Given the description of an element on the screen output the (x, y) to click on. 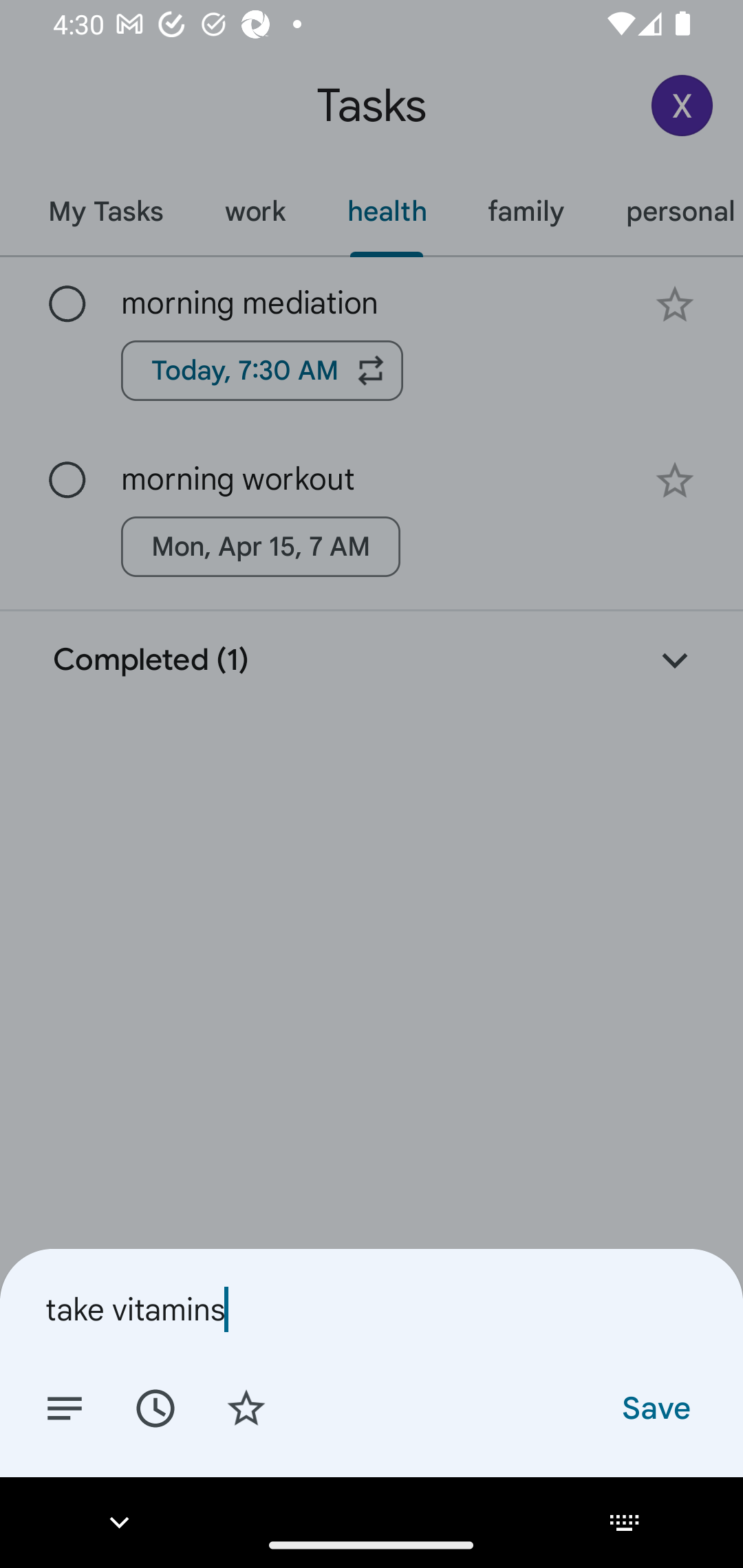
take vitamins (371, 1308)
Save (655, 1407)
Add details (64, 1407)
Set date/time (154, 1407)
Add star (245, 1407)
